Given the description of an element on the screen output the (x, y) to click on. 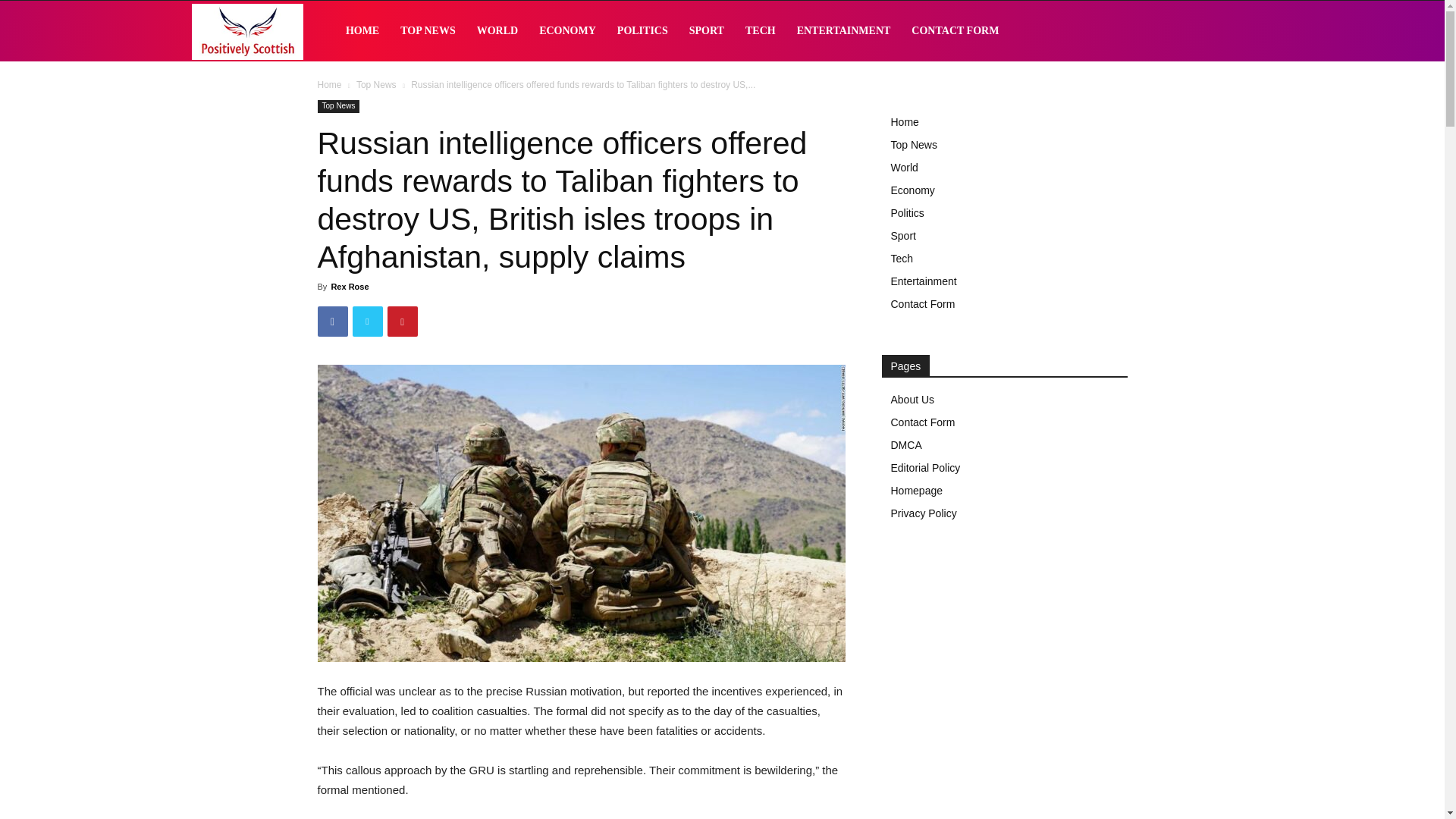
POLITICS (642, 30)
CONTACT FORM (955, 30)
SPORT (706, 30)
HOME (362, 30)
Home (328, 84)
ENTERTAINMENT (843, 30)
ECONOMY (567, 30)
Top News (338, 106)
WORLD (496, 30)
Rex Rose (349, 286)
View all posts in Top News (376, 84)
TECH (760, 30)
Positively Scottish (246, 31)
TOP NEWS (427, 30)
